Given the description of an element on the screen output the (x, y) to click on. 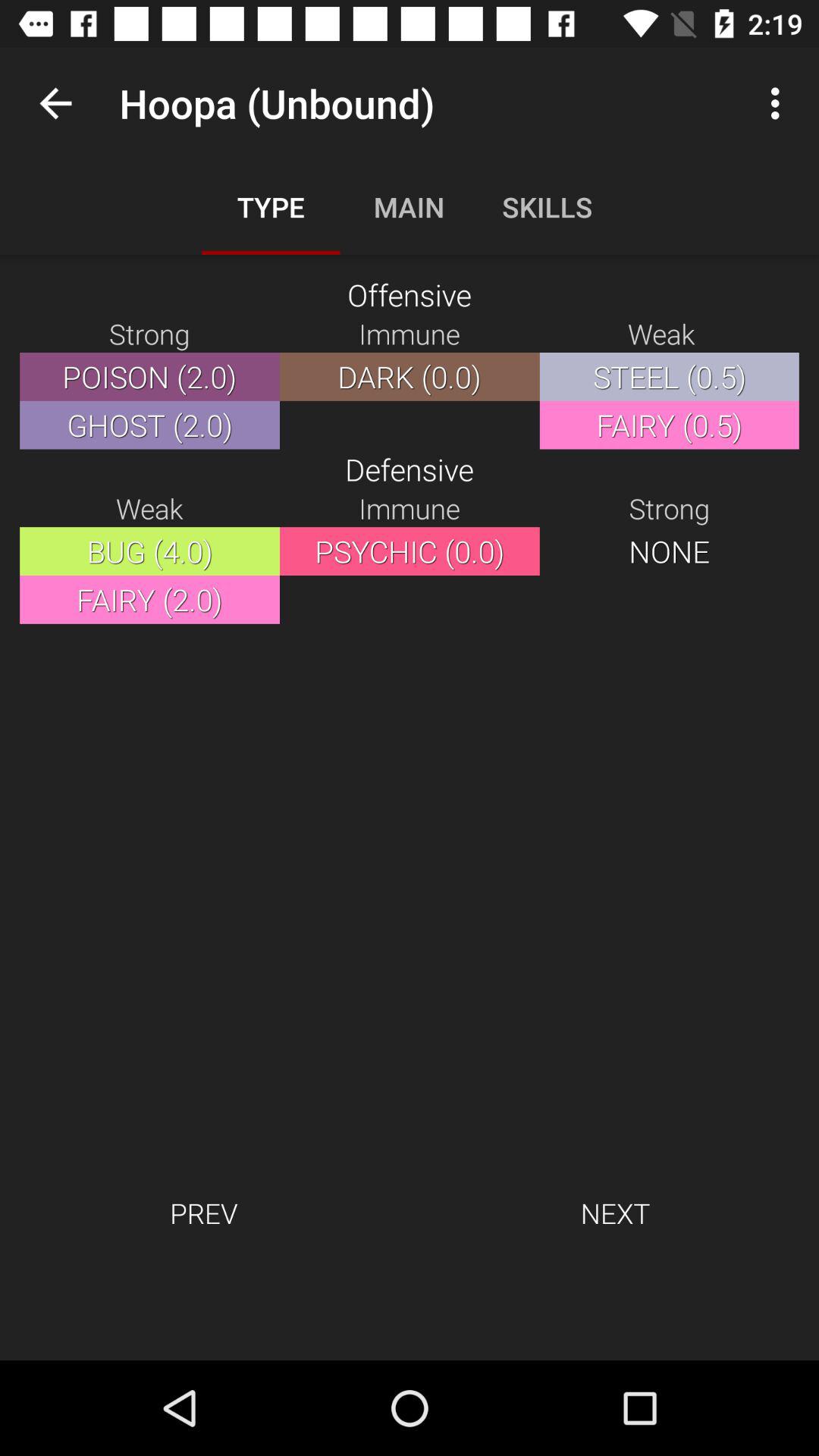
turn on app to the left of hoopa (unbound) app (55, 103)
